Given the description of an element on the screen output the (x, y) to click on. 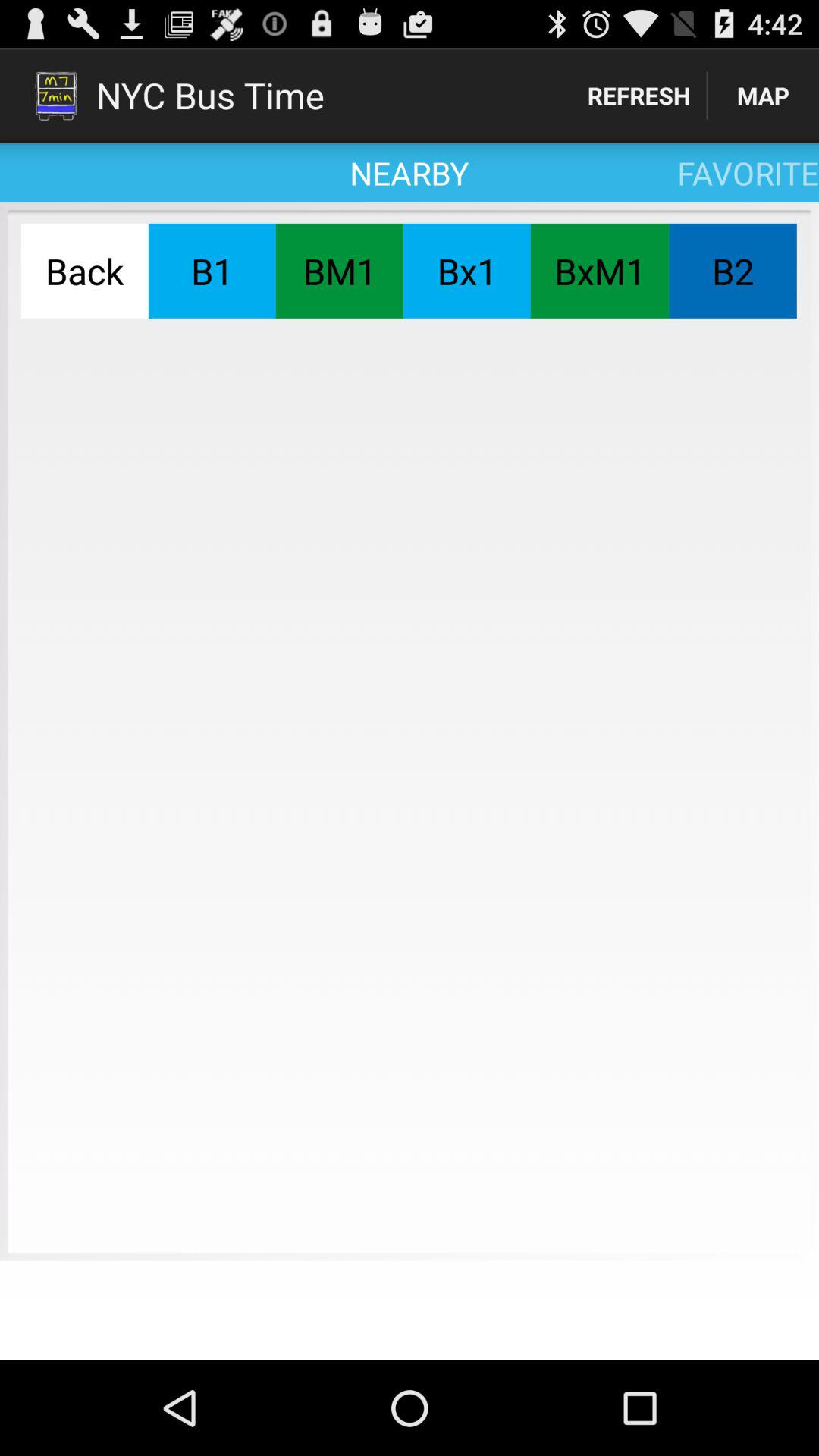
turn off the icon below favorite icon (599, 271)
